Given the description of an element on the screen output the (x, y) to click on. 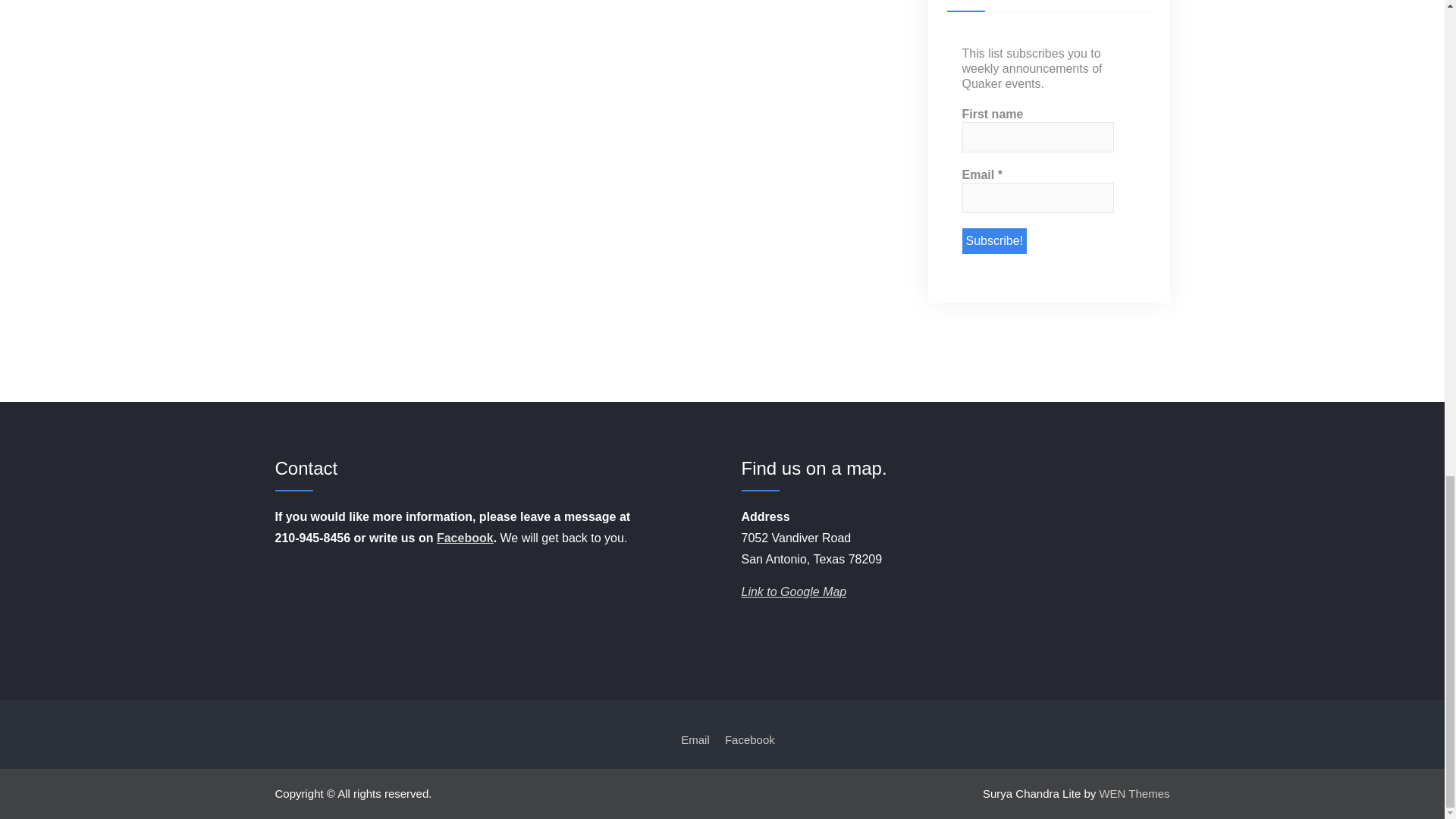
First name (1036, 137)
Email (1036, 197)
Subscribe! (993, 240)
